Given the description of an element on the screen output the (x, y) to click on. 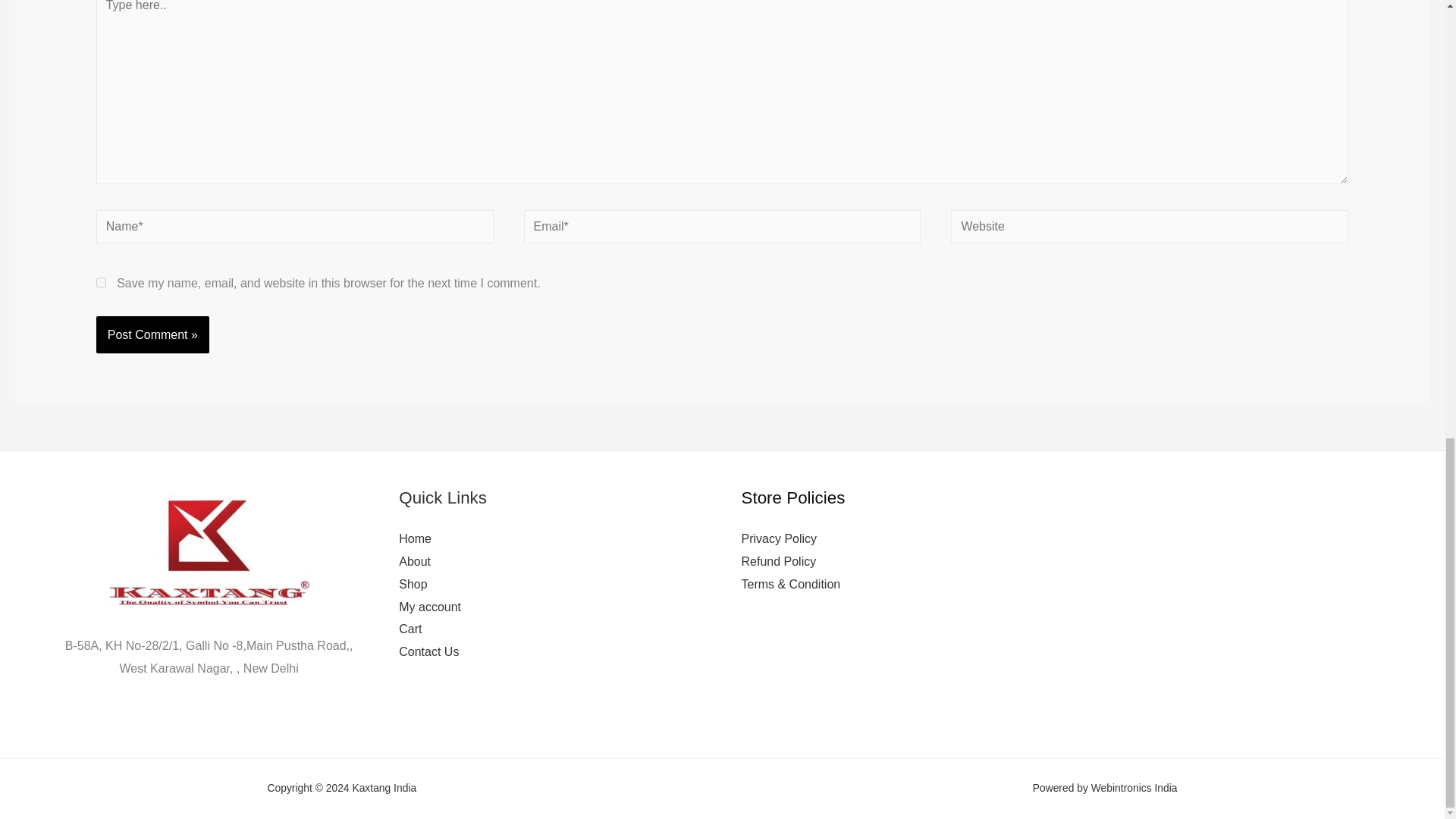
Shop (412, 584)
Home (414, 538)
My account (429, 606)
Cart (410, 628)
About (414, 561)
Privacy Policy (778, 538)
yes (101, 282)
Refund Policy (778, 561)
Contact Us (428, 651)
